Given the description of an element on the screen output the (x, y) to click on. 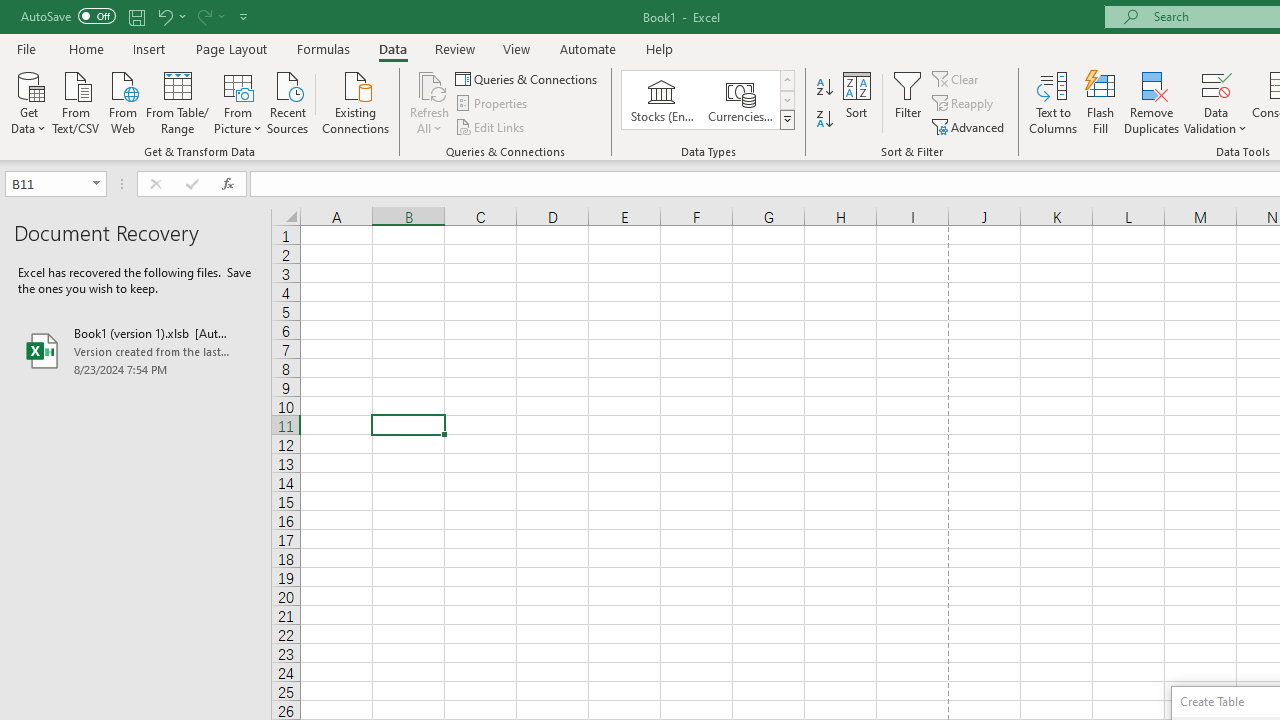
Refresh All (429, 102)
Redo (209, 15)
From Web (122, 101)
Class: NetUIImage (787, 119)
Remove Duplicates (1151, 102)
File Tab (26, 48)
Redo (203, 15)
Name Box (56, 183)
Row up (786, 79)
Filter (908, 102)
Refresh All (429, 84)
Get Data (28, 101)
Properties (492, 103)
Advanced... (970, 126)
